Given the description of an element on the screen output the (x, y) to click on. 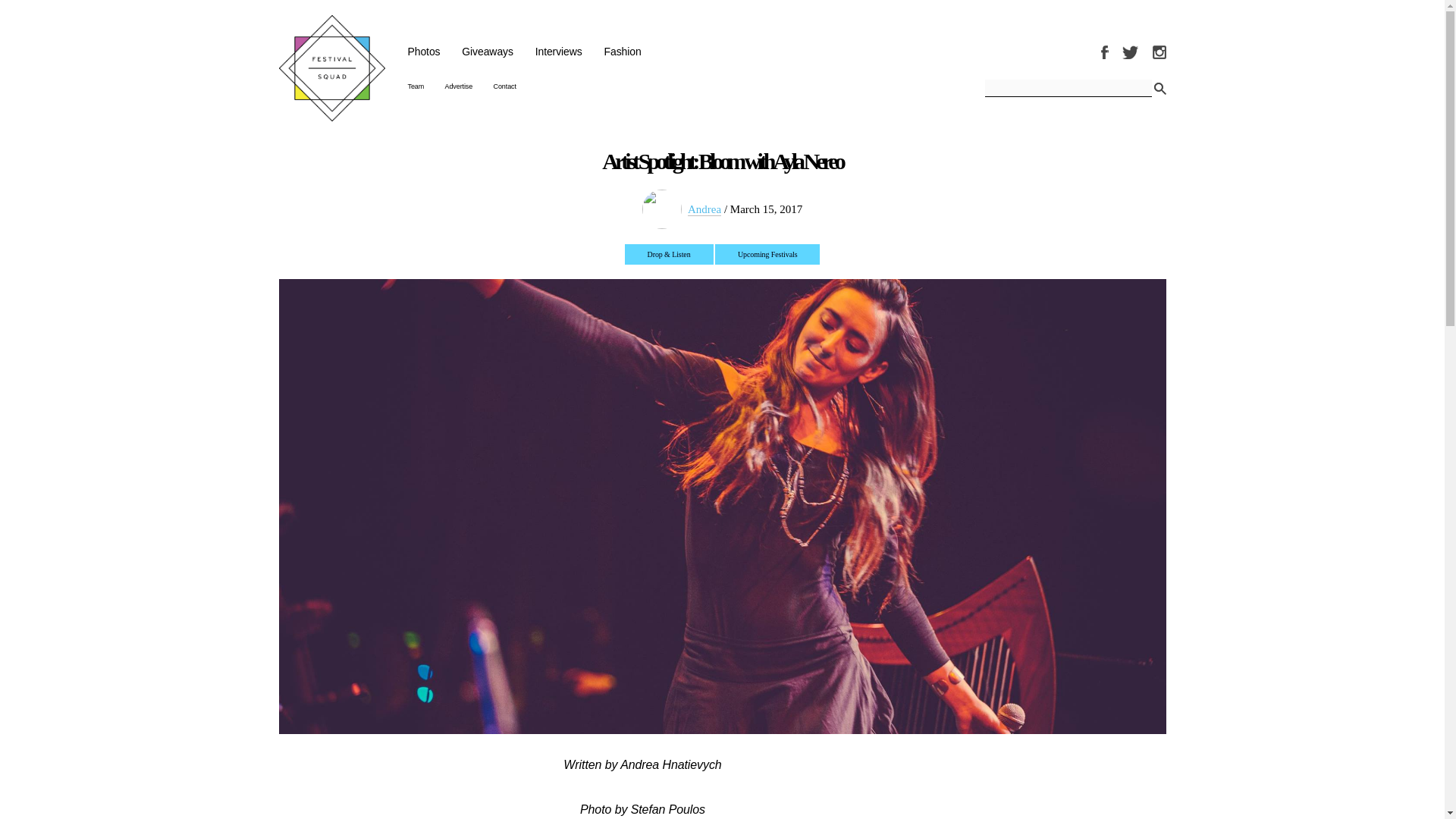
Andrea (703, 209)
Upcoming Festivals (766, 254)
Team (416, 86)
Photos (424, 51)
Advertisement (1105, 796)
View all posts in Upcoming Festivals (766, 254)
Advertise (459, 86)
Fashion (622, 51)
Giveaways (487, 51)
Posts by Andrea (703, 209)
Contact (504, 86)
Interviews (558, 51)
